Given the description of an element on the screen output the (x, y) to click on. 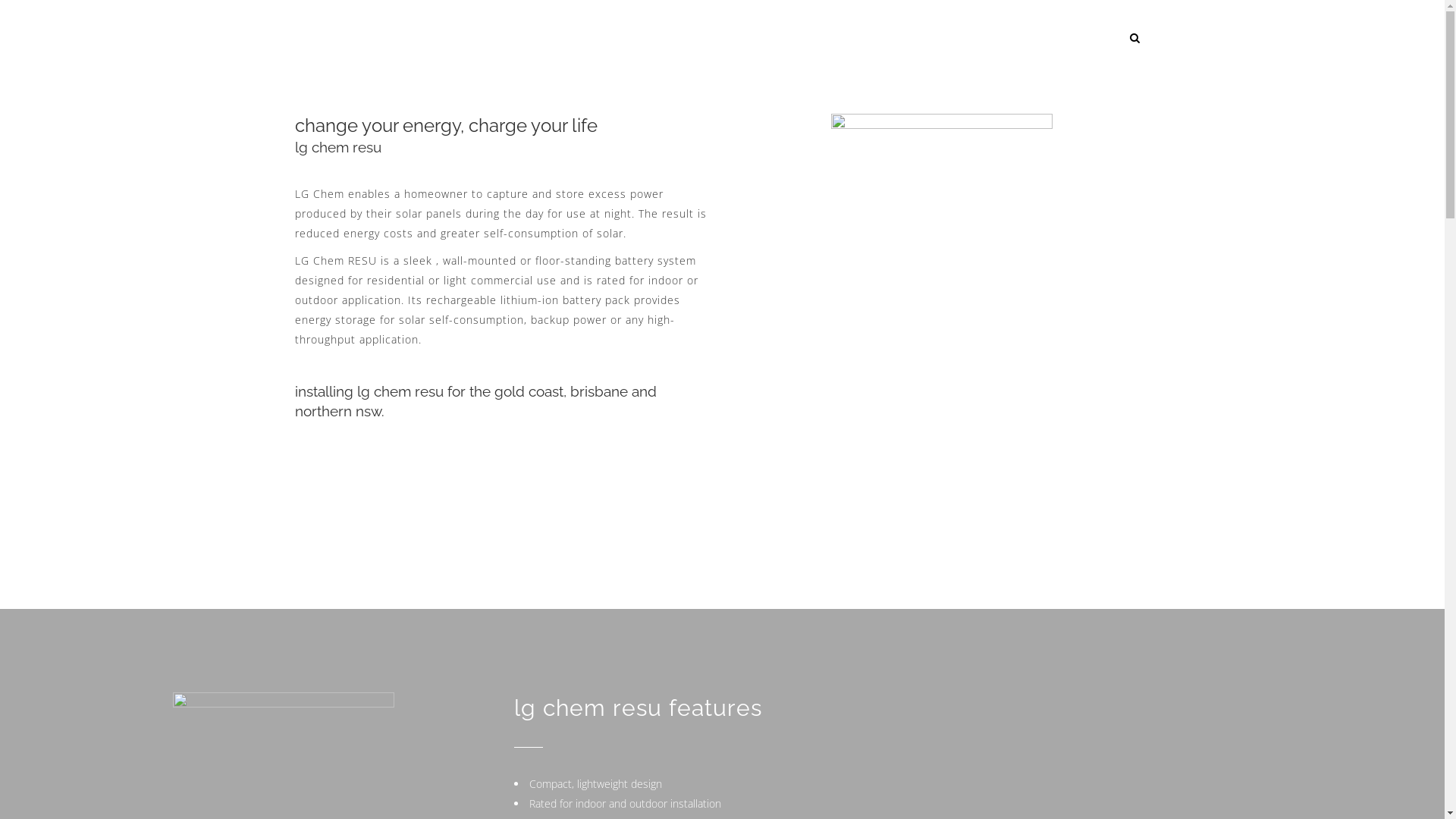
Residential Solar Brisbane Element type: text (948, 790)
CONTACT Element type: text (972, 37)
SERVICES Element type: text (631, 37)
info@dynalec.com.au Element type: text (610, 674)
HOME Element type: text (565, 37)
Ph: 0435 087 620 Element type: text (571, 647)
Commercial Solar Gold Coast Element type: text (402, 806)
Commercial Solar Northern NSW Element type: text (664, 806)
PACKAGES Element type: text (828, 37)
Residential Solar Northern NSW Element type: text (1079, 790)
Powerwall 2 Gold Coast Element type: text (486, 790)
Brisbane Air Conditioning Element type: text (918, 806)
Gold Coast Air Conditioning Element type: text (799, 806)
Follow @DynalecRnewNrgy Element type: text (592, 728)
RECENT PROJECTS Element type: text (728, 37)
Northern NSW Air Conditioning Element type: text (1043, 806)
Powerwall 2 Brisbane Element type: text (590, 790)
Residential Solar Gold Coast Element type: text (826, 790)
ABOUT Element type: text (902, 37)
Commercial Solar Brisbane Element type: text (529, 806)
Dynalec renewable energy blog Element type: text (363, 790)
Powerwall 2 Northern NSW Element type: text (701, 790)
